Given the description of an element on the screen output the (x, y) to click on. 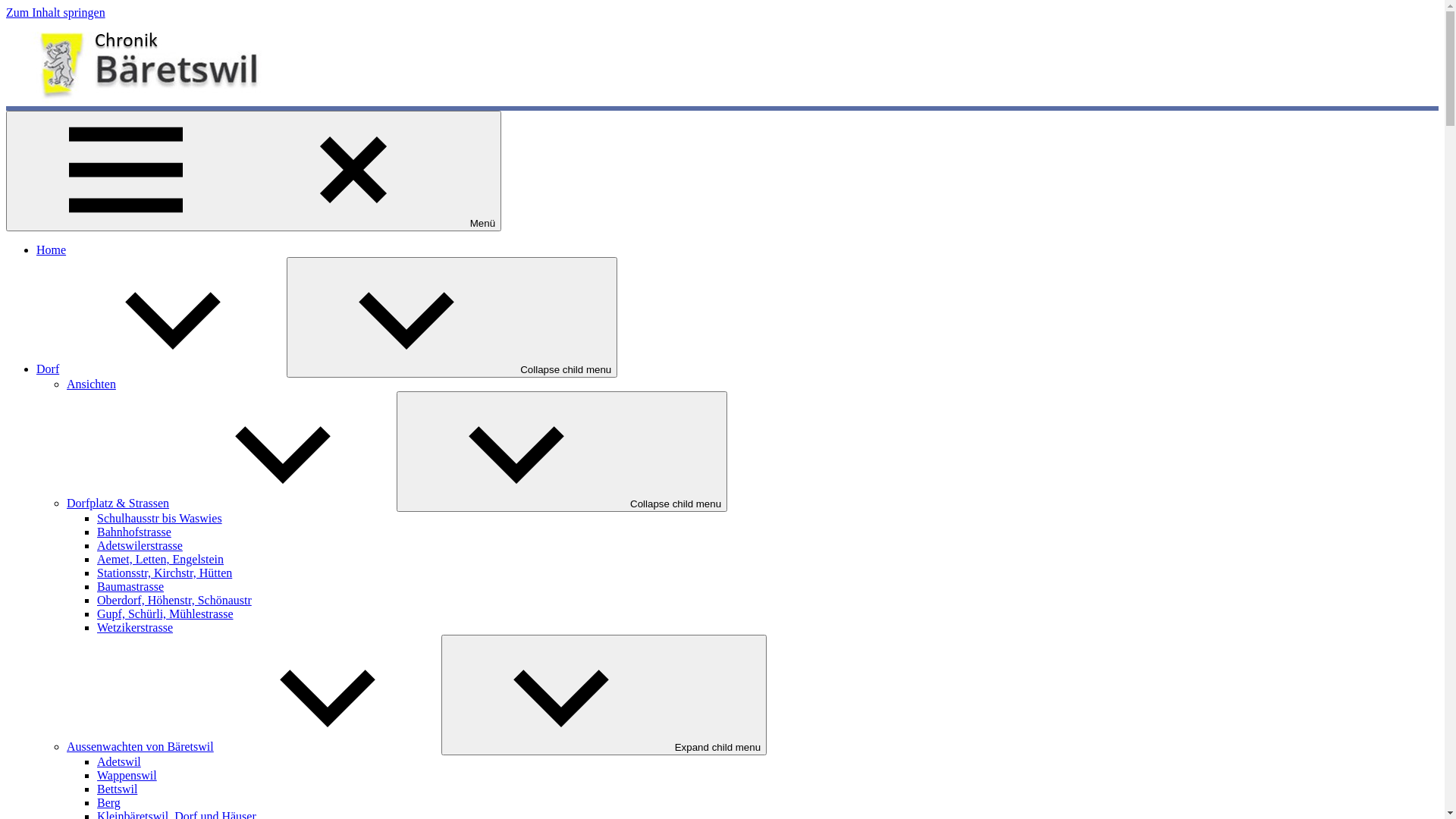
Dorfplatz & Strassen Element type: text (231, 502)
Bettswil Element type: text (117, 788)
Bahnhofstrasse Element type: text (134, 531)
Collapse child menu Element type: text (451, 317)
Collapse child menu Element type: text (561, 451)
Adetswilerstrasse Element type: text (139, 545)
Dorf Element type: text (161, 368)
Wappenswil Element type: text (126, 774)
Ansichten Element type: text (91, 383)
Baumastrasse Element type: text (130, 586)
Zum Inhalt springen Element type: text (55, 12)
Expand child menu Element type: text (603, 694)
chronik-baeretswil.ch Element type: text (38, 131)
Adetswil Element type: text (119, 761)
Aemet, Letten, Engelstein Element type: text (160, 558)
Home Element type: text (50, 249)
Schulhausstr bis Waswies Element type: text (159, 517)
Berg Element type: text (108, 802)
Wetzikerstrasse Element type: text (134, 627)
